Given the description of an element on the screen output the (x, y) to click on. 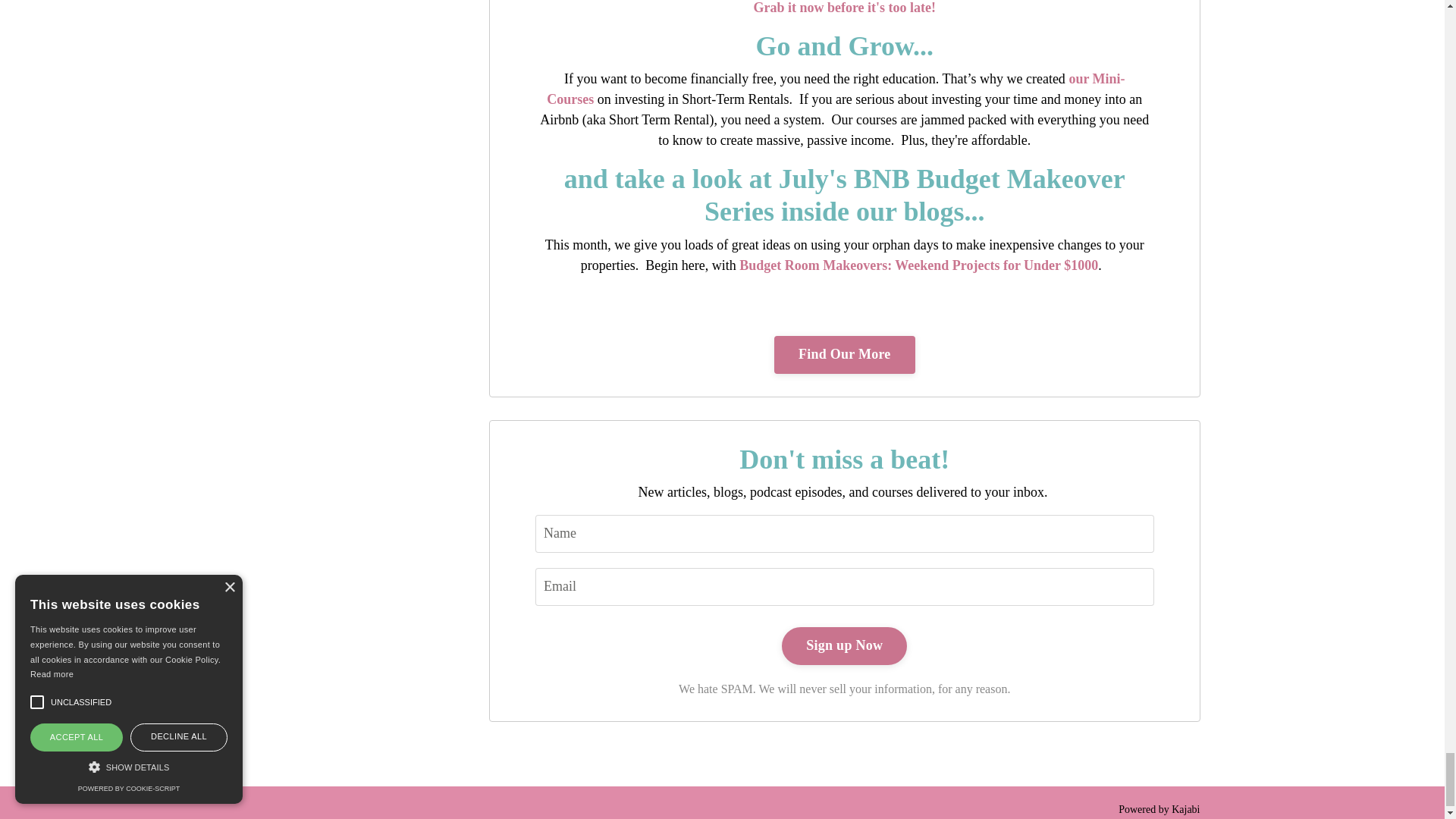
Budget Room Makeovers (918, 264)
Our Mini-Courses (835, 89)
Grab it now before it's too late! (844, 7)
Powered by Kajabi (1158, 808)
VA Advantage (844, 7)
 our Mini-Courses (835, 89)
Sign up Now (844, 646)
Find Our More (844, 354)
Sign up Now (844, 646)
